Given the description of an element on the screen output the (x, y) to click on. 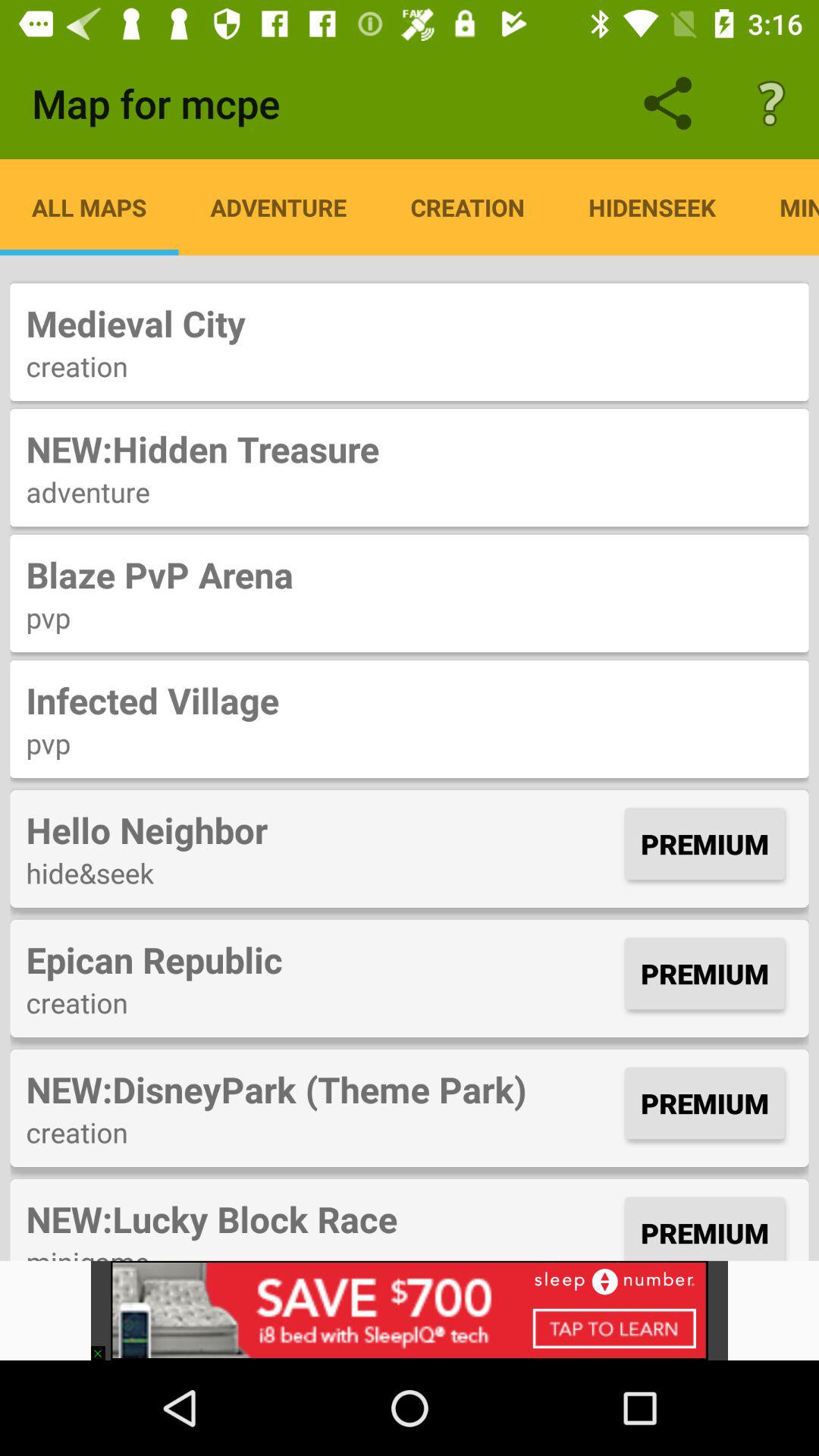
tap icon above medieval city item (89, 207)
